Given the description of an element on the screen output the (x, y) to click on. 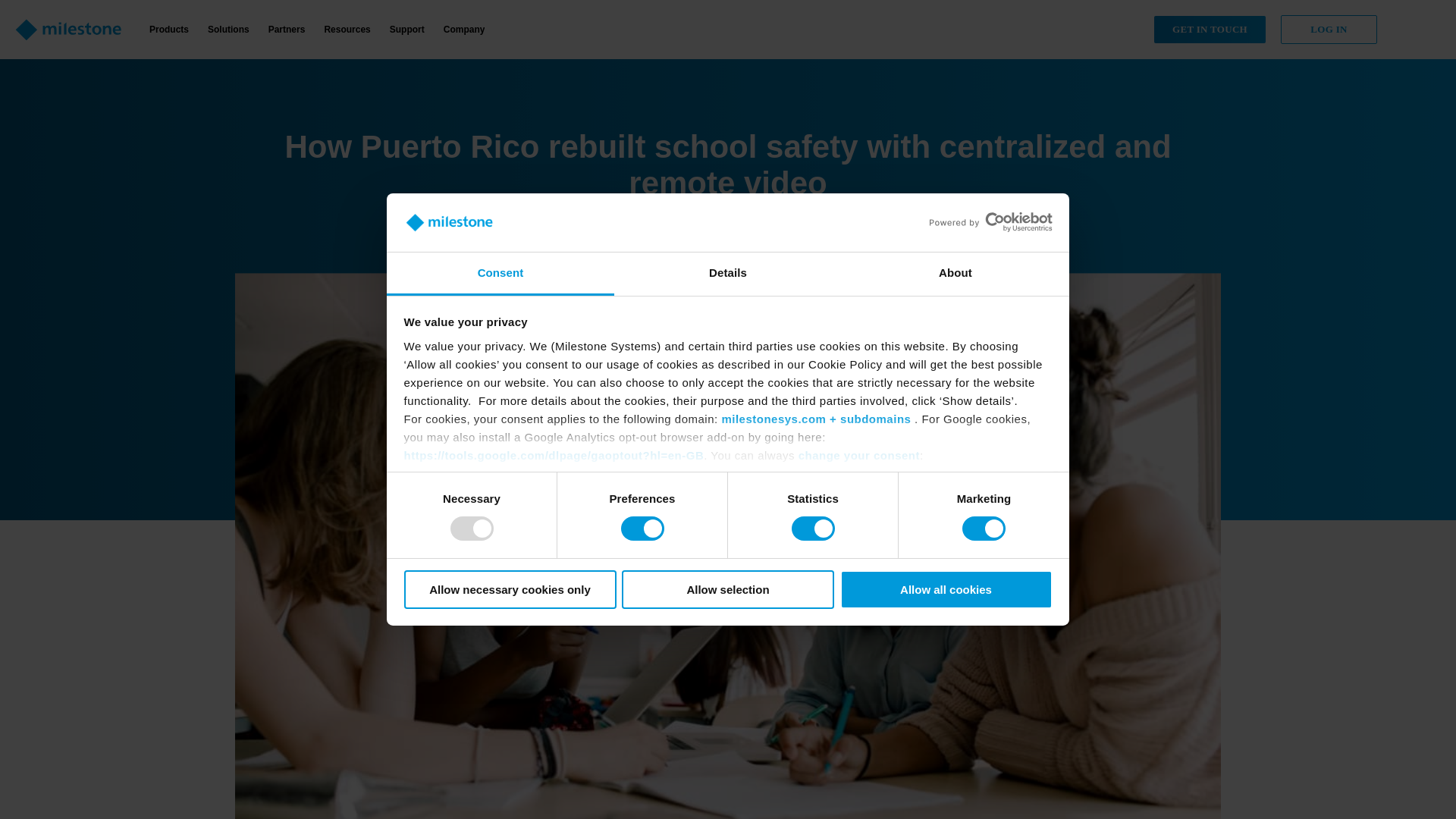
About (954, 273)
change your consent (858, 454)
Consent (500, 273)
Details (727, 273)
